Given the description of an element on the screen output the (x, y) to click on. 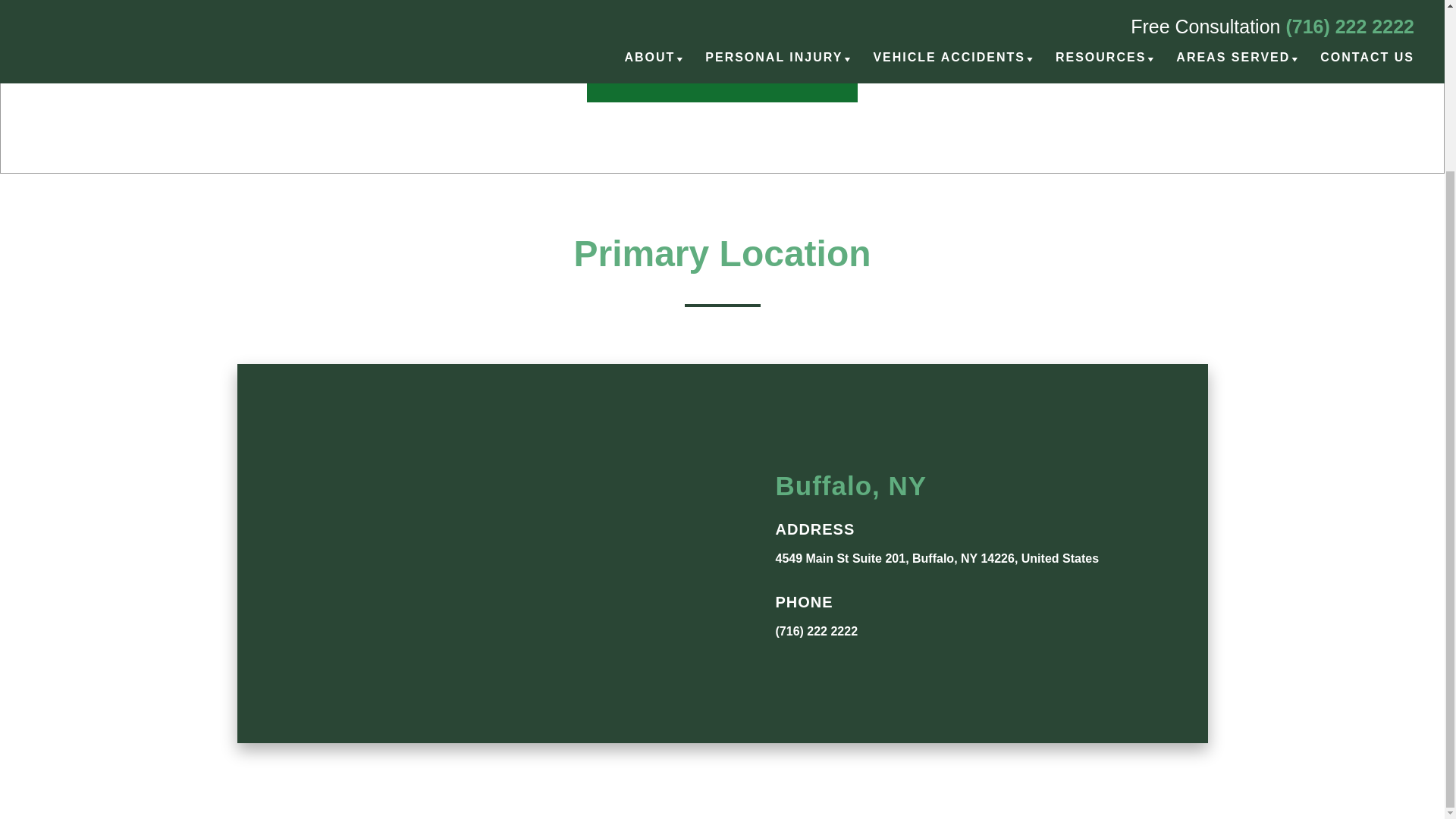
FREE CASE REVIEW (721, 73)
4549 Main St Suite 201, Buffalo, NY 14226, United States (936, 558)
FREE CASE REVIEW (721, 73)
